Given the description of an element on the screen output the (x, y) to click on. 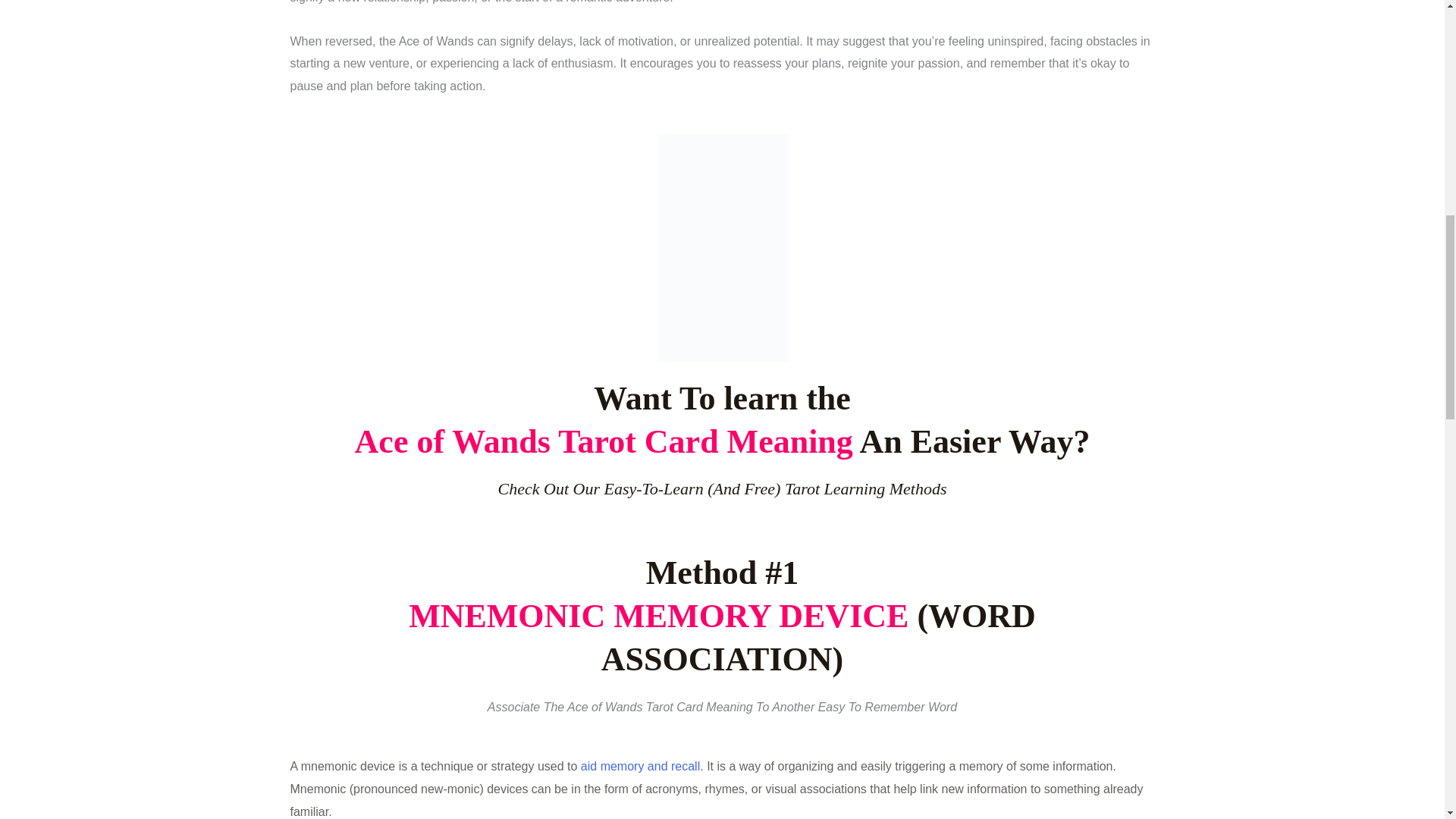
aid memory and recall (640, 766)
